Given the description of an element on the screen output the (x, y) to click on. 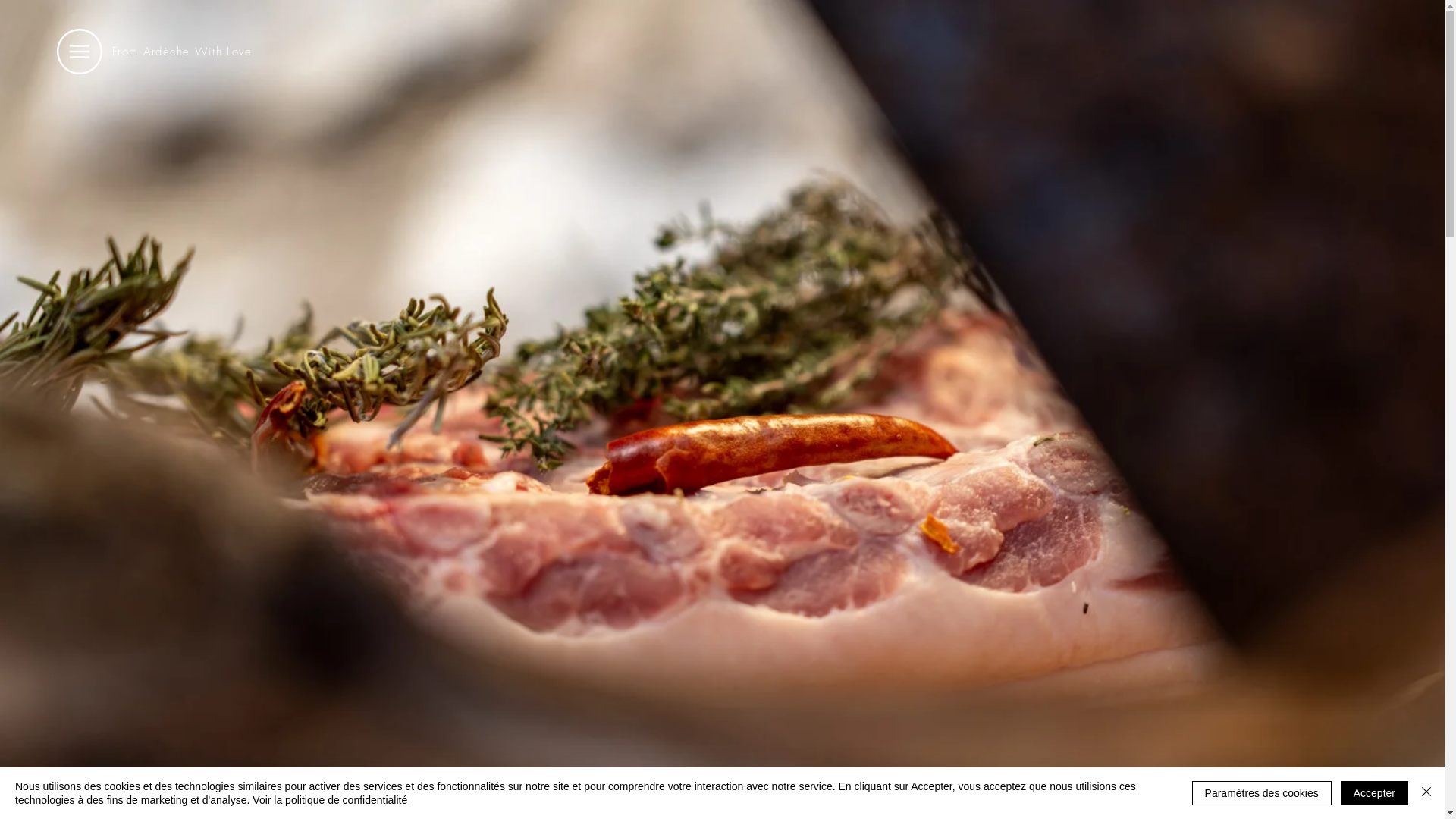
Accepter Element type: text (1374, 793)
